Given the description of an element on the screen output the (x, y) to click on. 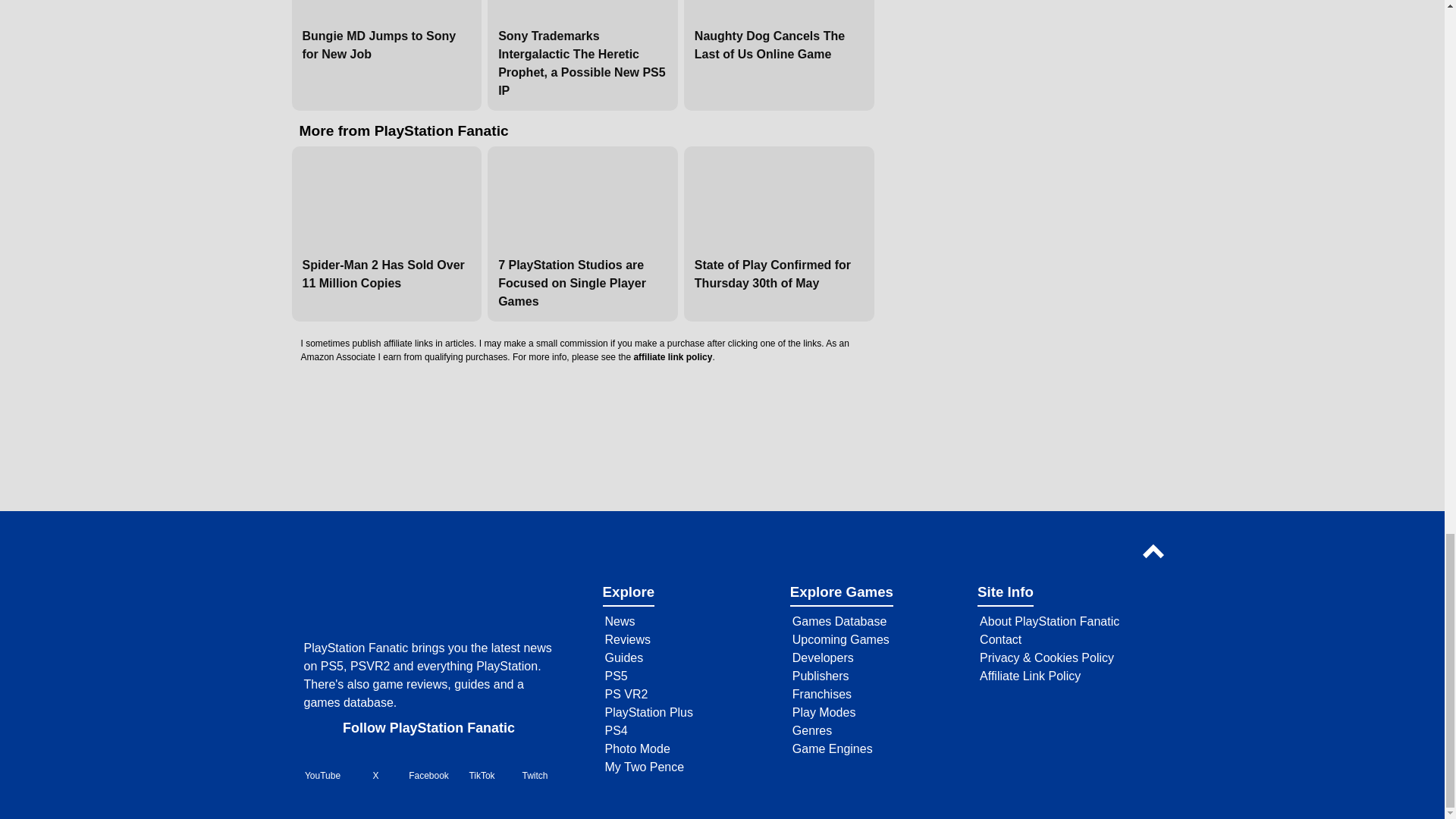
up (1156, 551)
Jump to the top of the page (1156, 552)
